Given the description of an element on the screen output the (x, y) to click on. 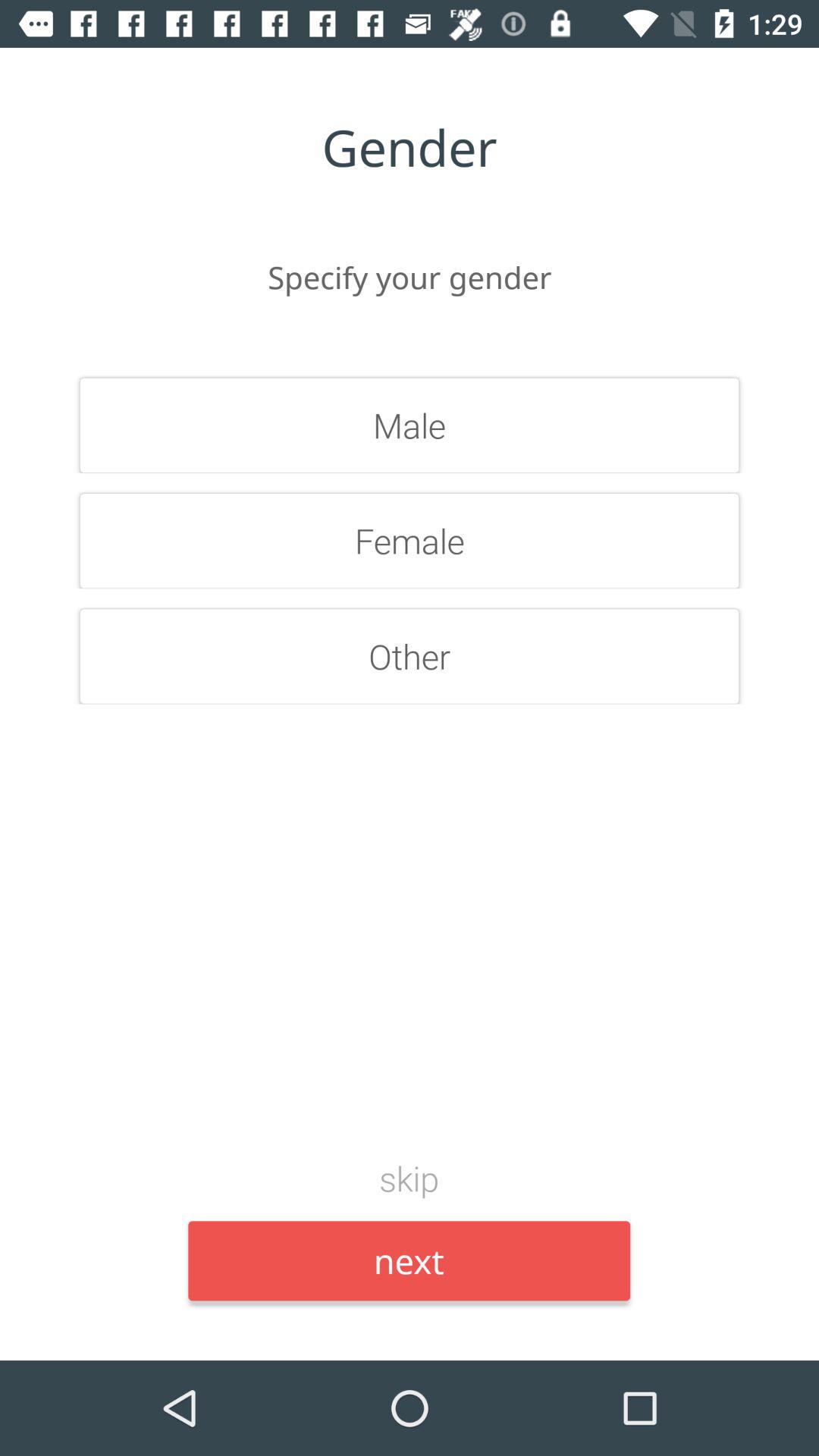
open next icon (409, 1260)
